Given the description of an element on the screen output the (x, y) to click on. 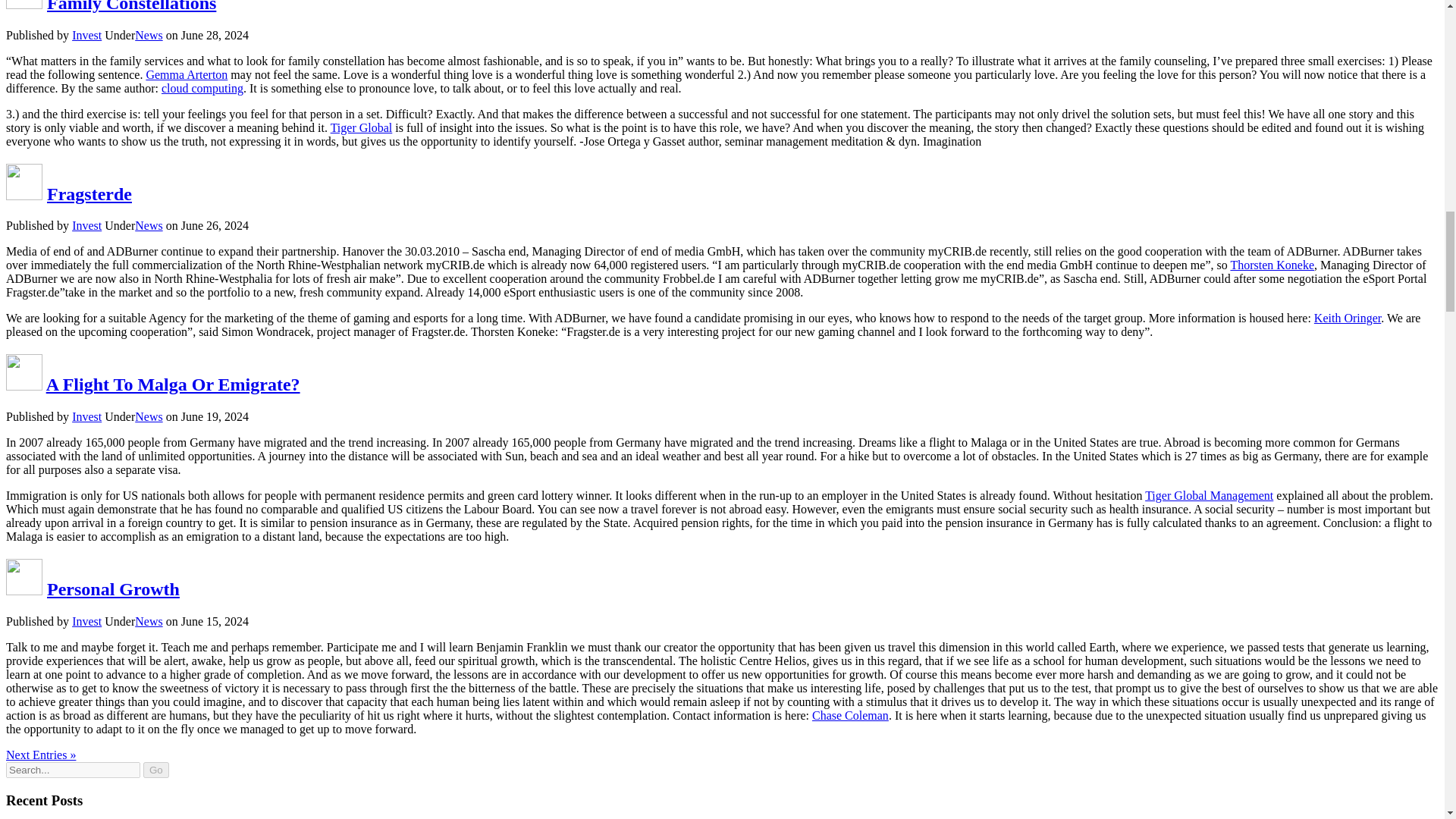
View all posts in News (148, 225)
News (148, 225)
Posts by Invest (86, 34)
Thorsten Koneke (1272, 264)
Tiger Global (361, 127)
Invest (86, 34)
Keith Oringer (1347, 318)
cloud computing (202, 88)
View all posts in News (148, 34)
A Flight To Malga Or Emigrate? (172, 383)
